Given the description of an element on the screen output the (x, y) to click on. 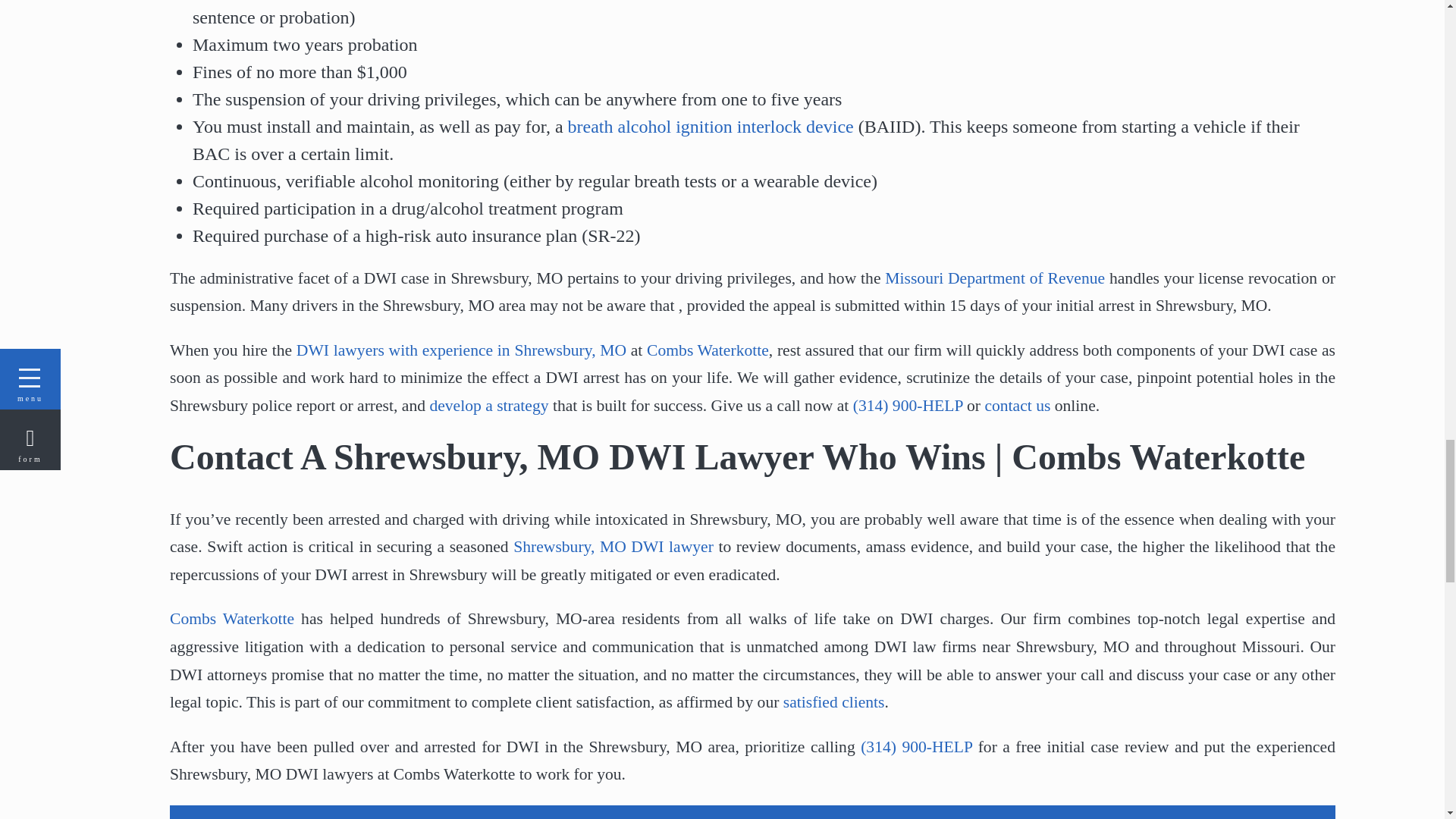
Shrewsbury, MO DWI lawyer (613, 546)
Missouri Department of Revenue (995, 278)
develop a strategy (488, 405)
satisfied clients (834, 701)
contact us (1016, 405)
Combs Waterkotte (707, 350)
DWI Lawyer Shrewsbury, MO - mo.gov (995, 278)
DWI lawyers with experience in Shrewsbury, MO (461, 350)
DWI Lawyer Shrewsbury, MO - modot.org (710, 126)
breath alcohol ignition interlock device (710, 126)
